Given the description of an element on the screen output the (x, y) to click on. 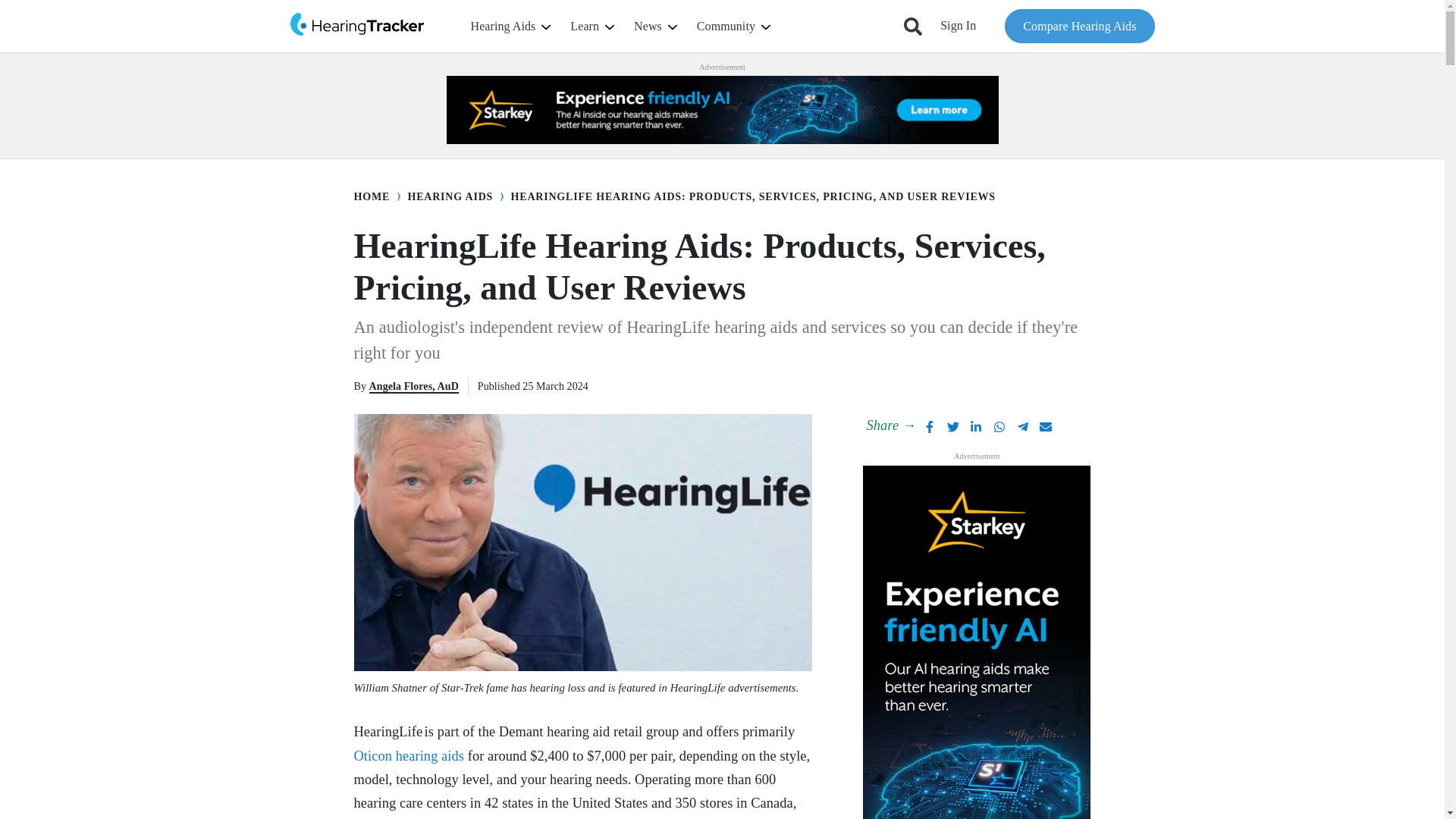
Starkey image (721, 110)
Hearing Aids (509, 26)
William Shatner Hearinglife Commercial (581, 542)
